Given the description of an element on the screen output the (x, y) to click on. 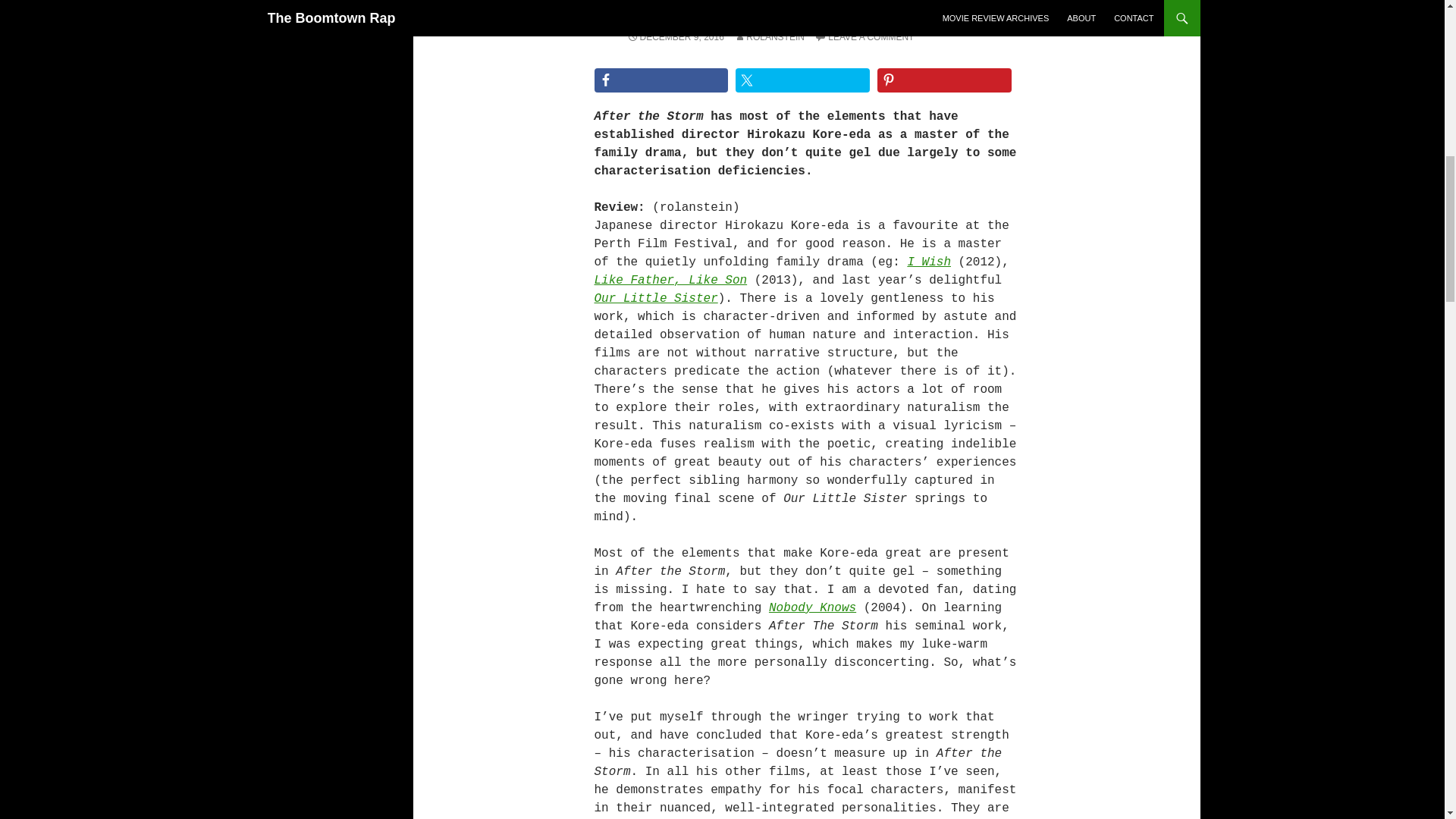
Nobody Knows (812, 608)
Share on Facebook (661, 79)
Share on Pinterest (944, 79)
Share on Twitter (802, 79)
Like Father, Like Son (671, 280)
I Wish (928, 262)
LEAVE A COMMENT (863, 36)
Our Little Sister (655, 298)
DECEMBER 9, 2016 (674, 36)
ROLANSTEIN (769, 36)
